Given the description of an element on the screen output the (x, y) to click on. 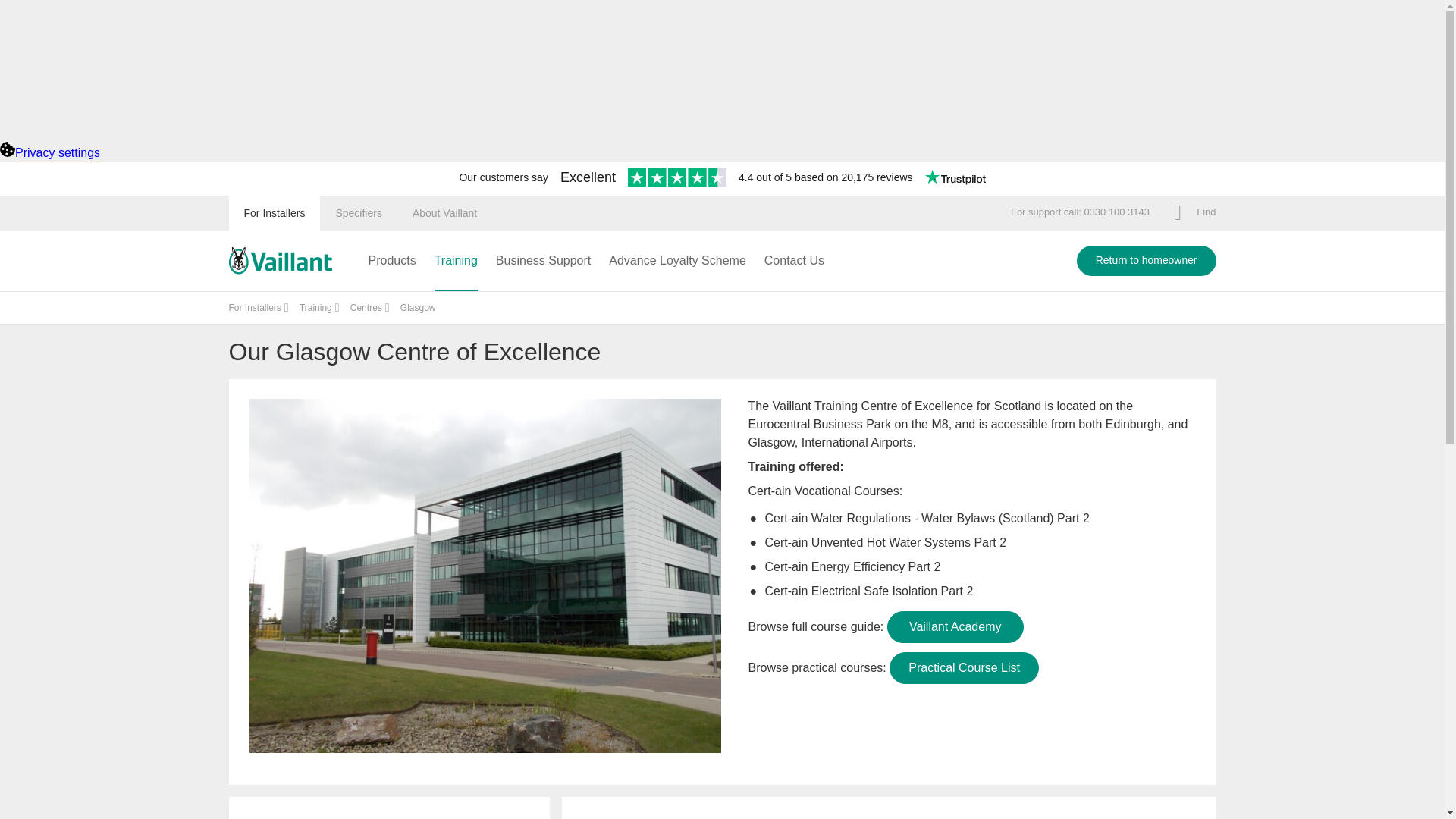
For Installers (274, 212)
Vaillant (279, 260)
Products (392, 260)
Training (455, 260)
Specifiers (358, 212)
Business Support (543, 260)
About Vaillant (444, 212)
For support call: 0330 100 3143 (1080, 212)
Find (1194, 212)
